Given the description of an element on the screen output the (x, y) to click on. 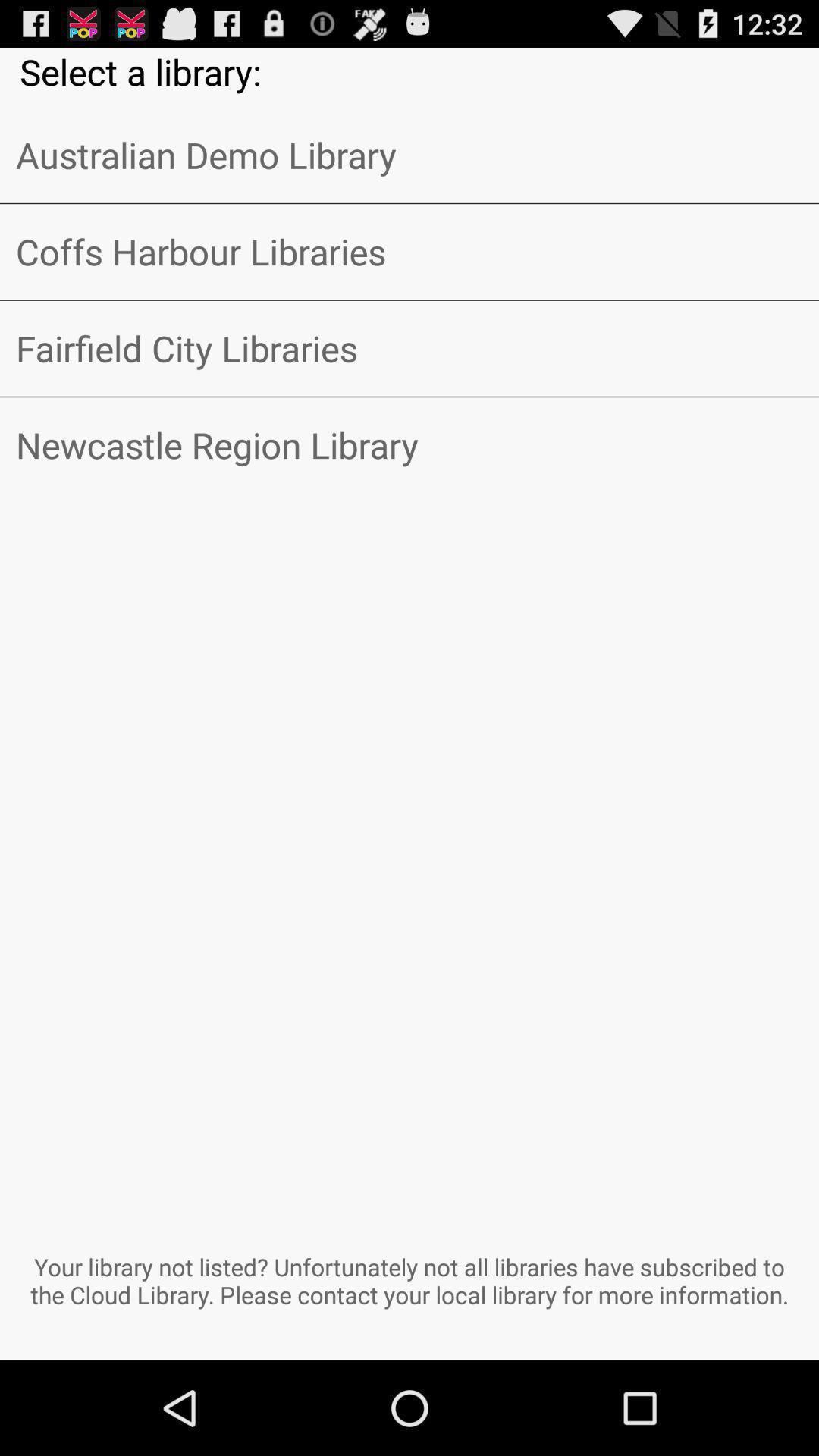
tap the australian demo library (409, 155)
